Given the description of an element on the screen output the (x, y) to click on. 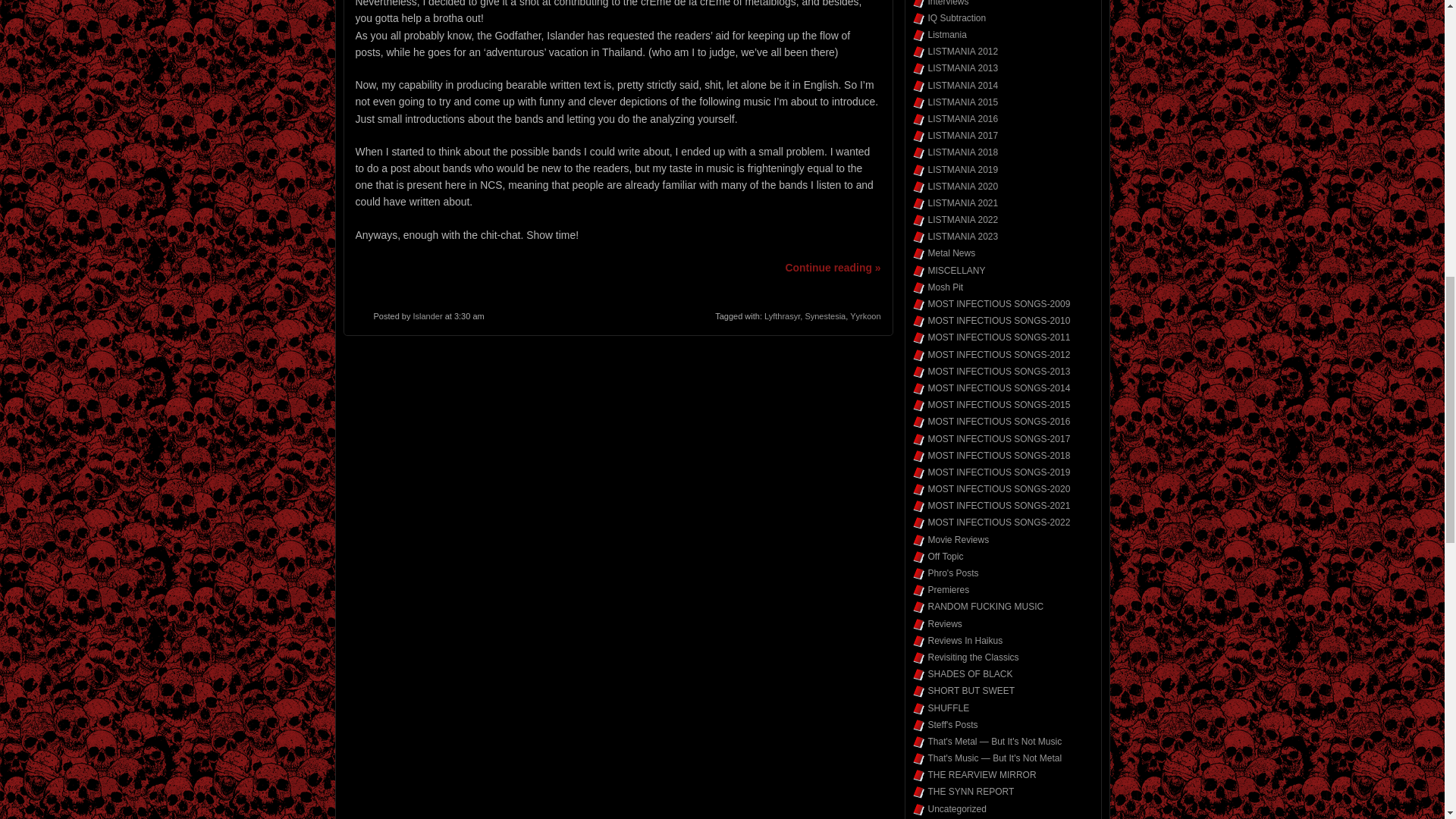
Synestesia (825, 316)
LISTMANIA 2013 (963, 68)
Yyrkoon (865, 316)
LISTMANIA 2012 (963, 50)
Islander (427, 316)
Islander (427, 316)
Interviews (948, 3)
Lyfthrasyr (781, 316)
Lyfthrasyr (781, 316)
IQ Subtraction (957, 18)
Listmania (947, 34)
